Given the description of an element on the screen output the (x, y) to click on. 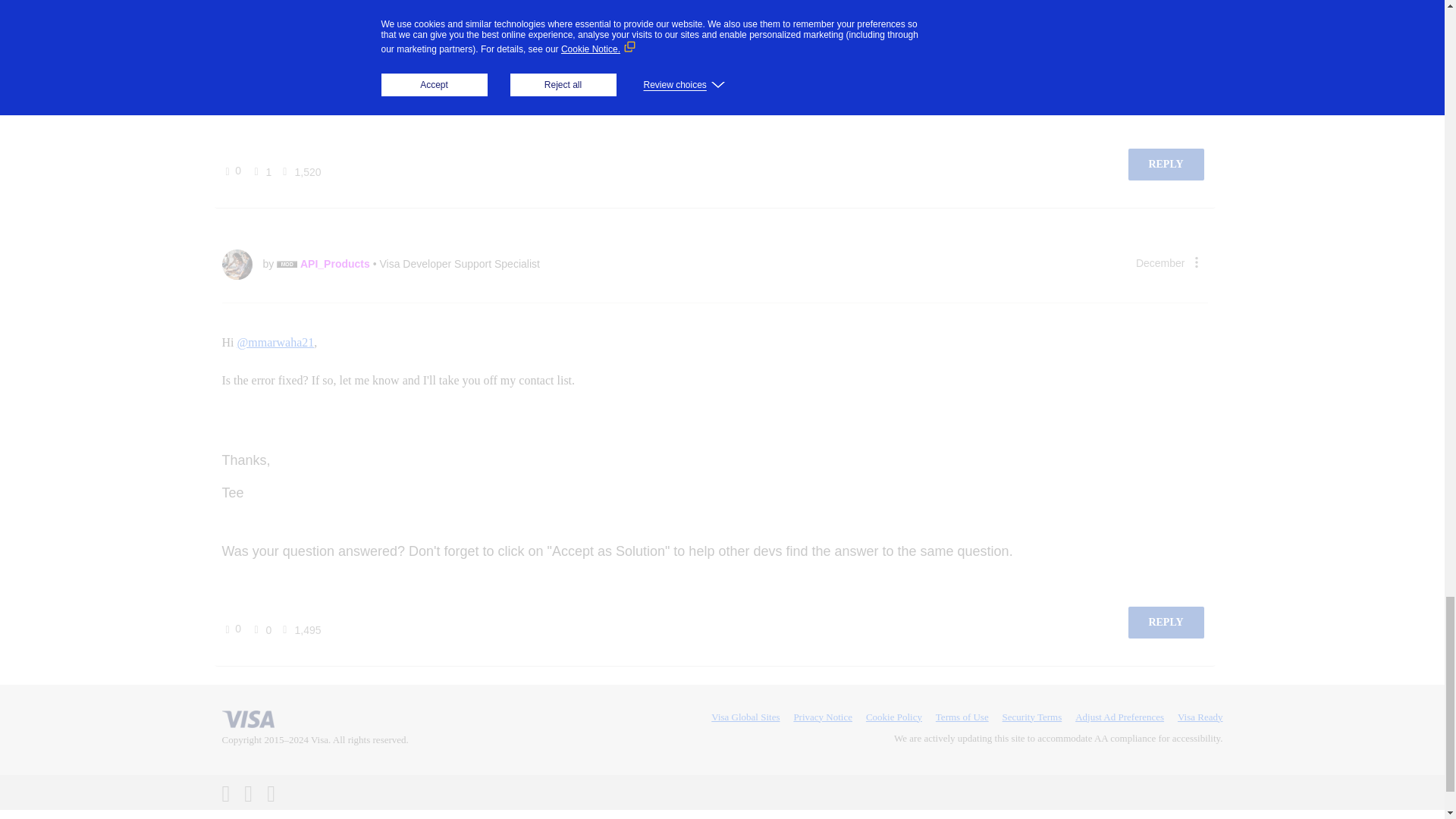
Top (283, 814)
Top (283, 814)
